Given the description of an element on the screen output the (x, y) to click on. 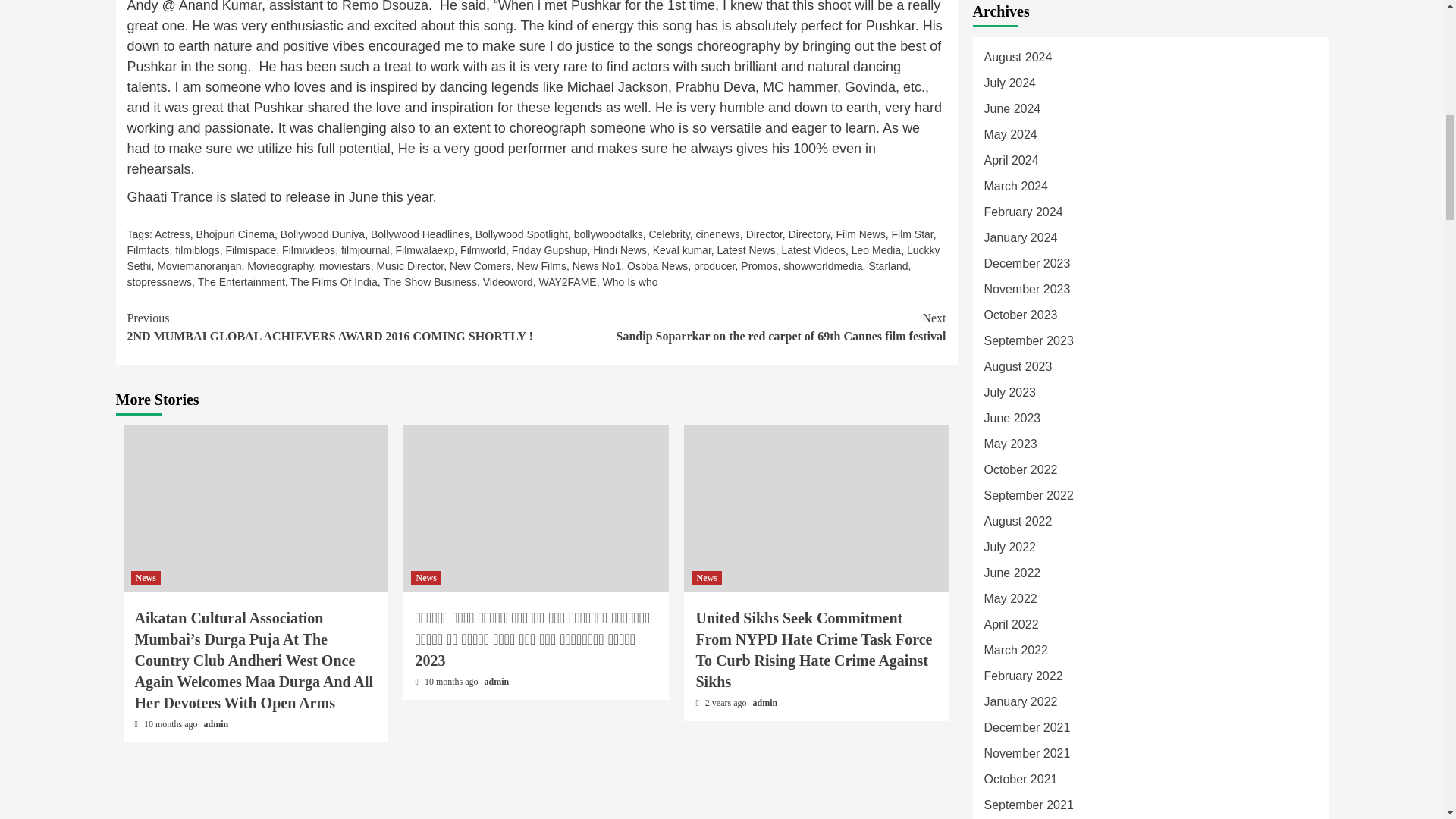
Director (764, 234)
Filmworld (482, 250)
Filmivideos (308, 250)
bollywoodtalks (608, 234)
Actress (172, 234)
Film News (860, 234)
Bollywood Duniya (323, 234)
Bollywood Spotlight (521, 234)
Bhojpuri Cinema (235, 234)
cinenews (717, 234)
